Given the description of an element on the screen output the (x, y) to click on. 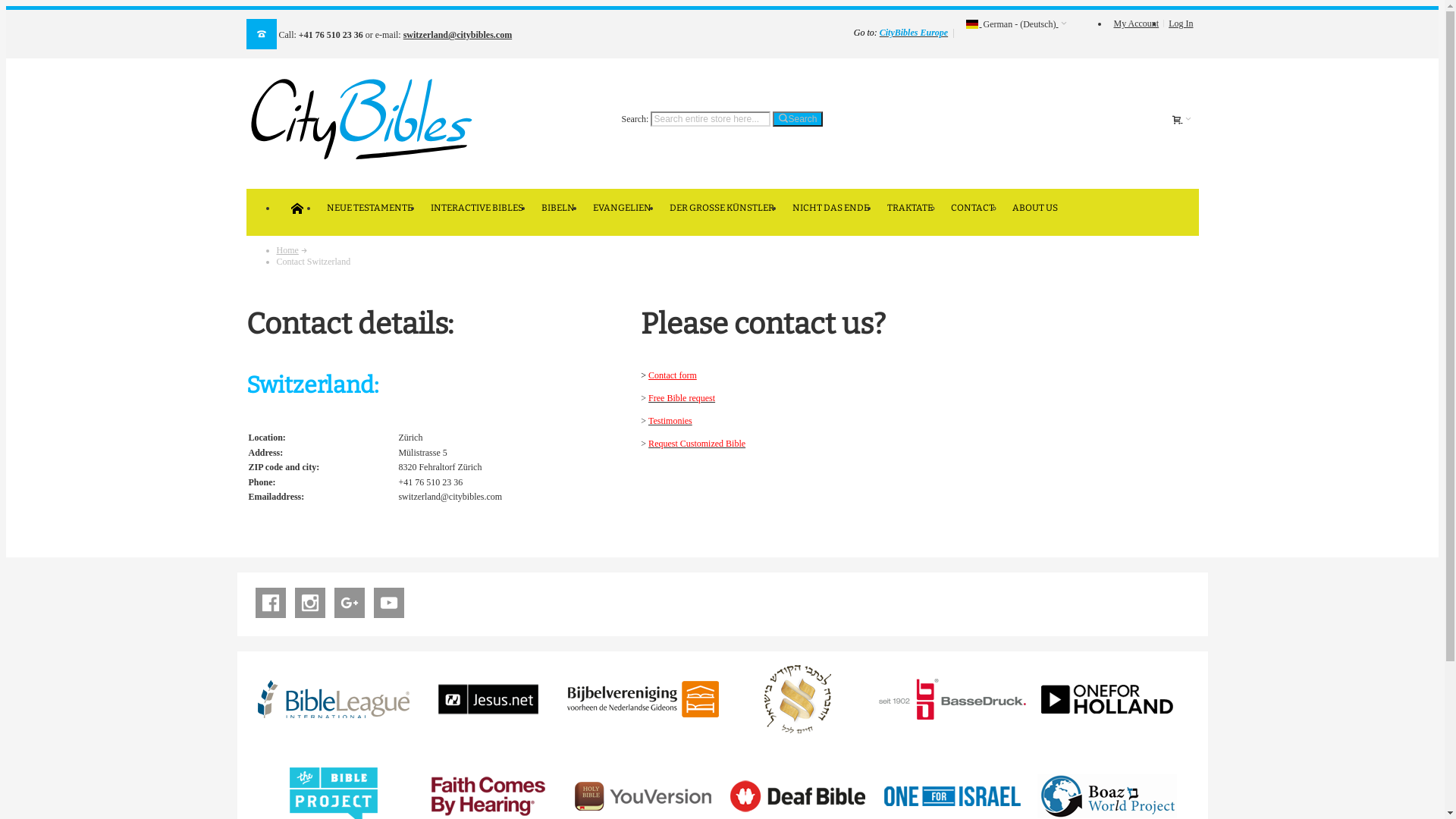
NEUE TESTAMENTE Element type: text (368, 207)
EVANGELIEN Element type: text (621, 207)
CityBibles Europe Element type: text (913, 32)
Request Customized Bible Element type: text (696, 443)
My Account Element type: text (1136, 23)
Log In Element type: text (1180, 23)
Search Element type: text (797, 118)
NICHT DAS ENDE Element type: text (829, 207)
Home Element type: text (287, 249)
Contact form Element type: text (675, 381)
Free Bible request Element type: text (685, 403)
BIBELN Element type: text (557, 207)
  German - (Deutsch) Element type: text (1016, 23)
INTERACTIVE BIBLES Element type: text (476, 207)
CONTACT Element type: text (972, 207)
ABOUT US Element type: text (1034, 207)
Testimonies Element type: text (673, 426)
TRAKTATE Element type: text (909, 207)
CityBibles.com Element type: hover (359, 118)
switzerland@citybibles.com Element type: text (457, 34)
